Given the description of an element on the screen output the (x, y) to click on. 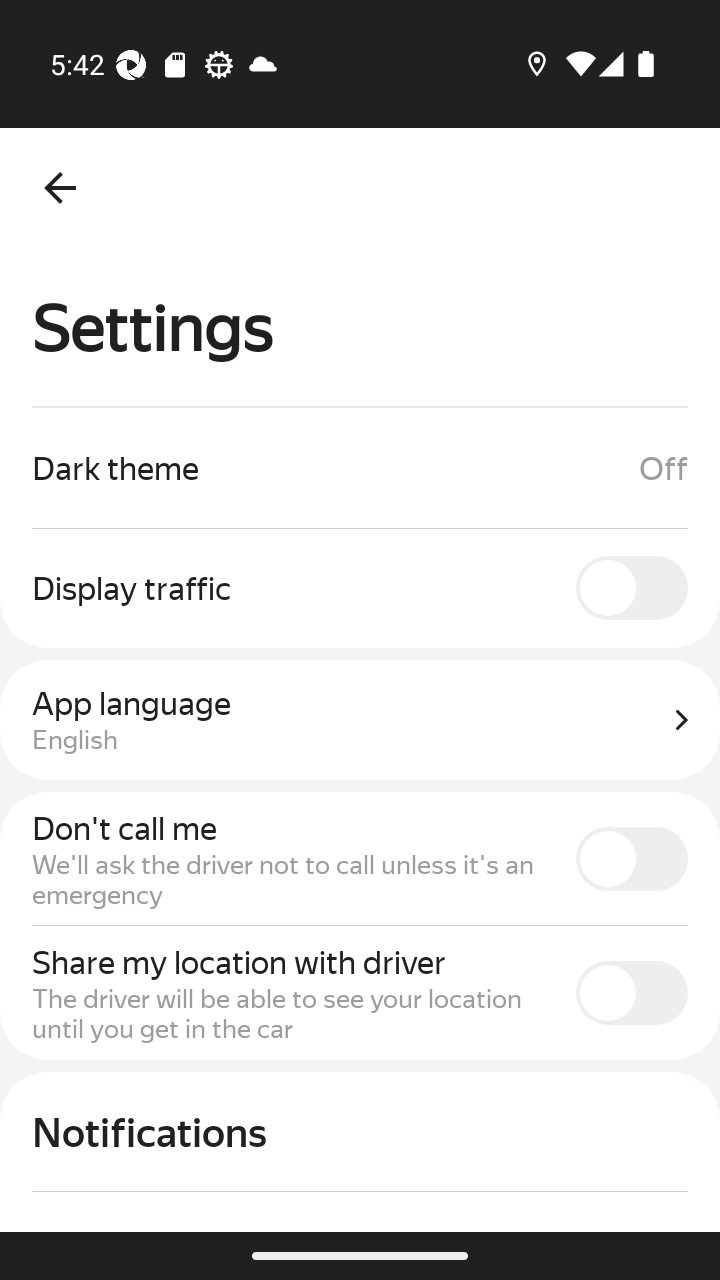
Back (60, 188)
Dark theme Dark theme Off Off (360, 467)
Display traffic (360, 587)
App language, English App language English (360, 719)
